Given the description of an element on the screen output the (x, y) to click on. 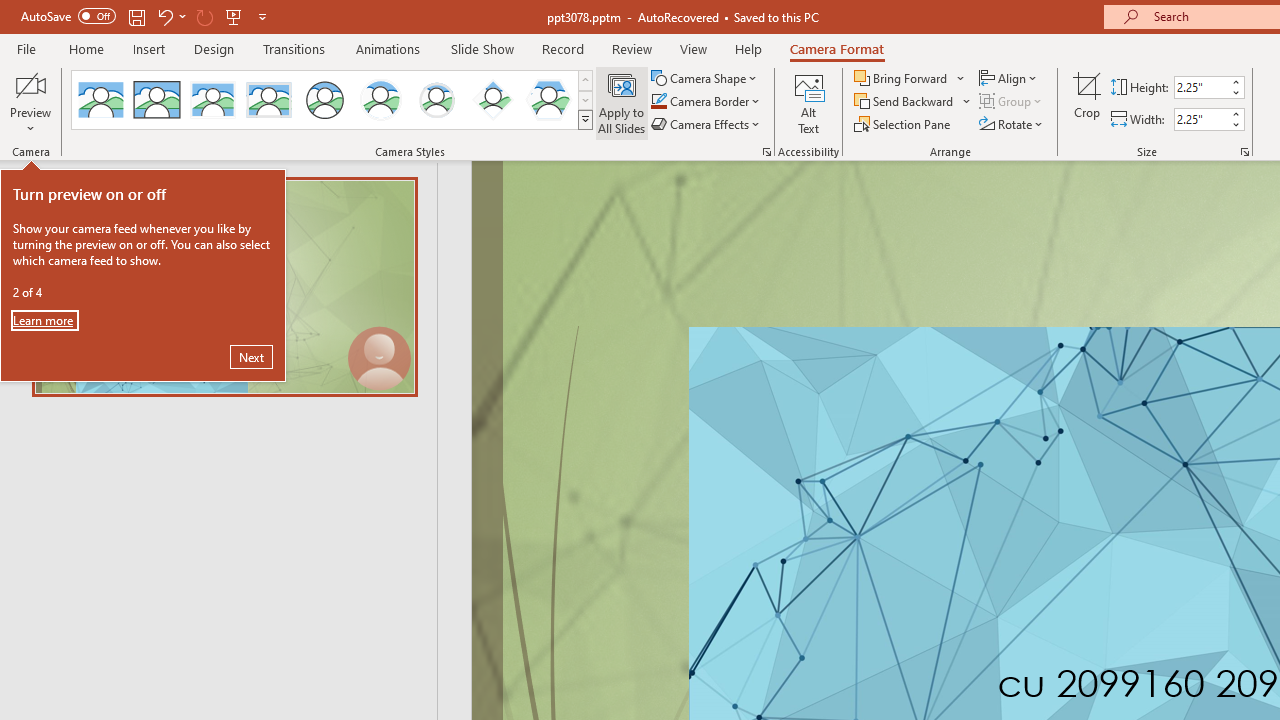
Align (1009, 78)
No Style (100, 100)
Size and Position... (1244, 151)
Bring Forward (902, 78)
Bring Forward (910, 78)
Send Backward (905, 101)
Camera Border (706, 101)
Rotate (1012, 124)
Apply to All Slides (621, 102)
Camera Styles (585, 120)
Center Shadow Diamond (492, 100)
